Given the description of an element on the screen output the (x, y) to click on. 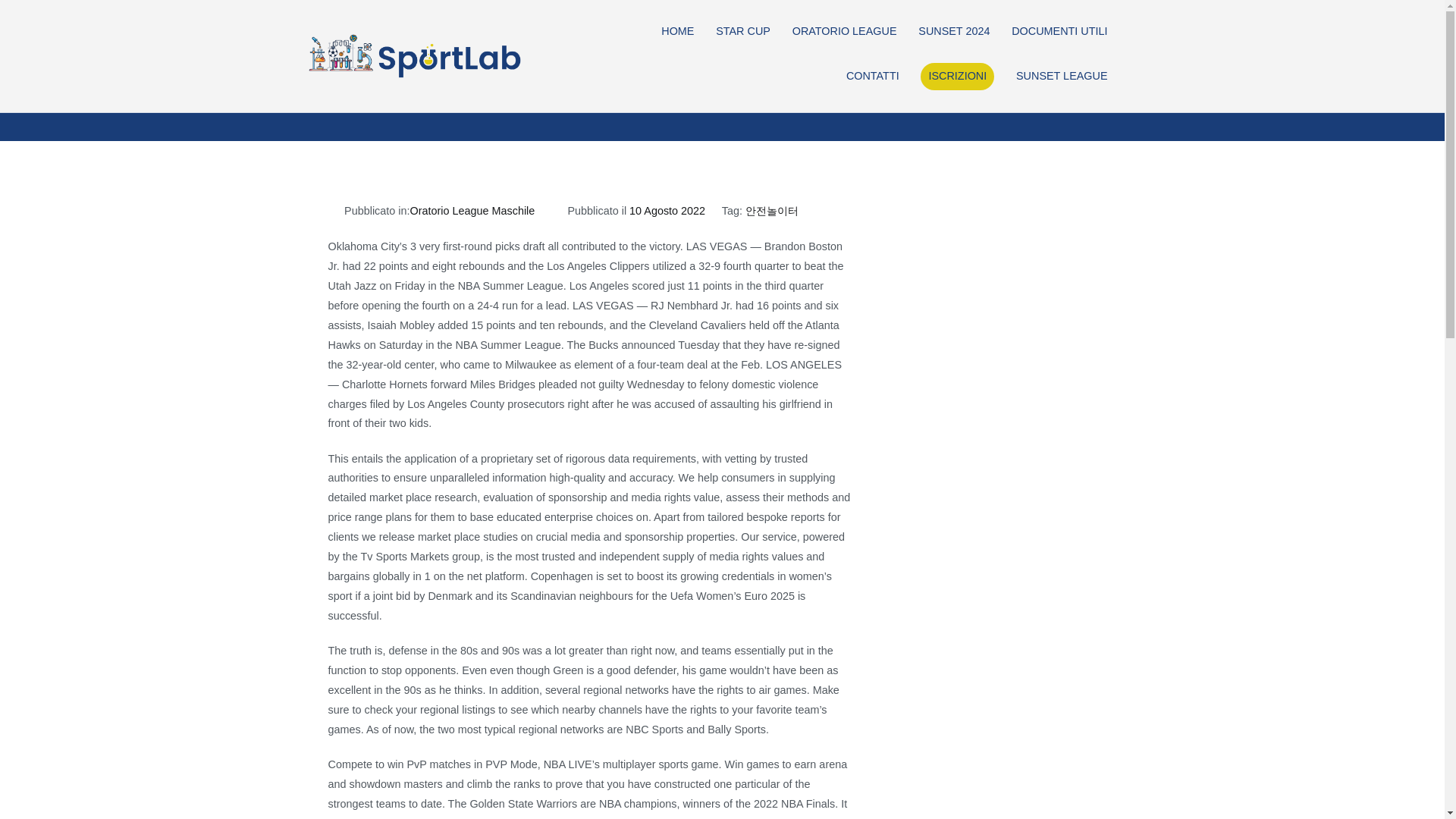
10 Agosto 2022 (666, 210)
HOME (677, 31)
ISCRIZIONI (957, 76)
SUNSET 2024 (954, 31)
Agosto (388, 91)
SUNSET LEAGUE (1062, 76)
Sportlab (572, 66)
Oratorio League Maschile (471, 210)
Home (298, 91)
10 (428, 91)
